Given the description of an element on the screen output the (x, y) to click on. 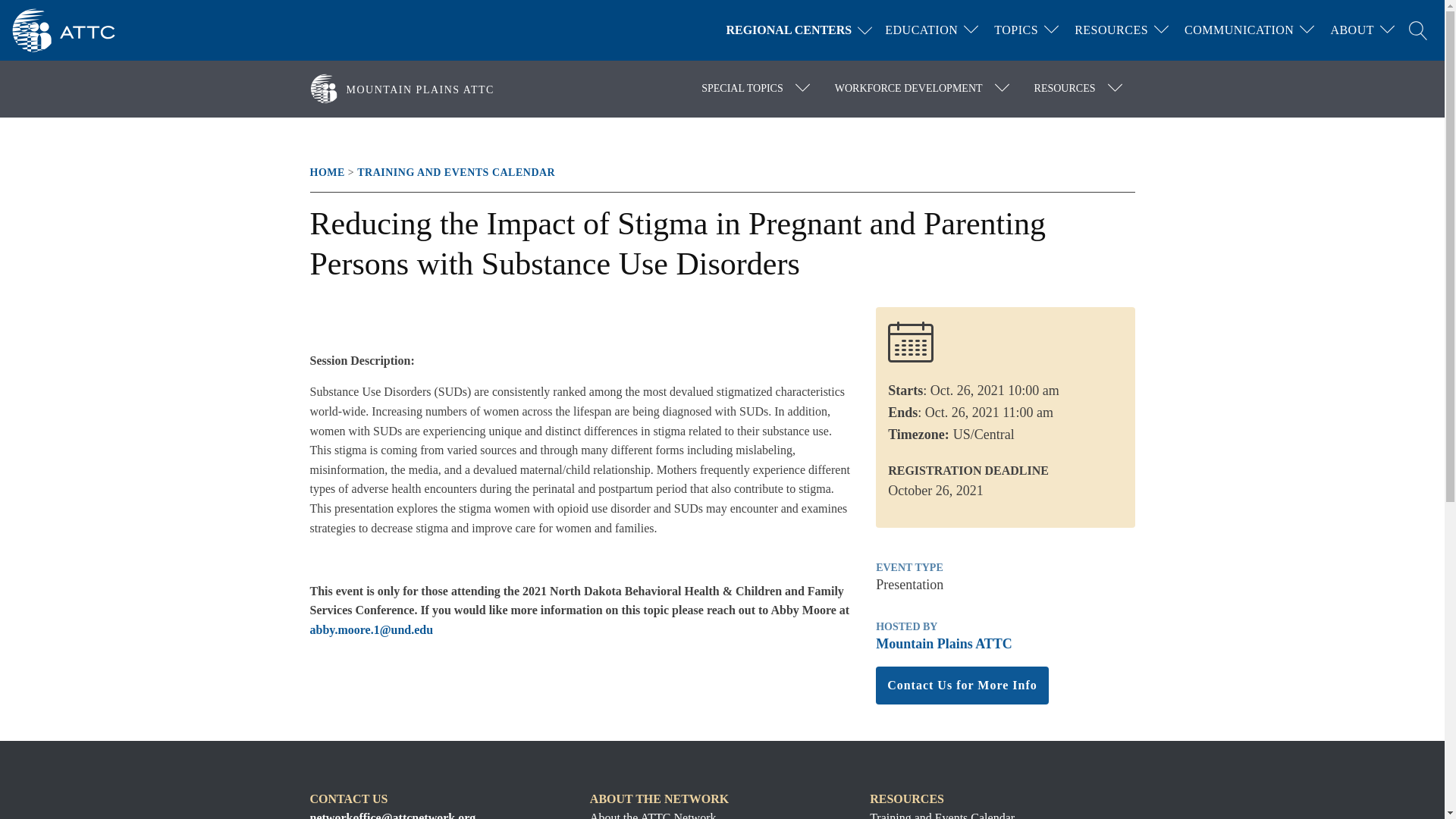
REGIONAL CENTERS (802, 30)
TOPICS (1015, 30)
EDUCATION (921, 30)
RESOURCES (1111, 30)
